Given the description of an element on the screen output the (x, y) to click on. 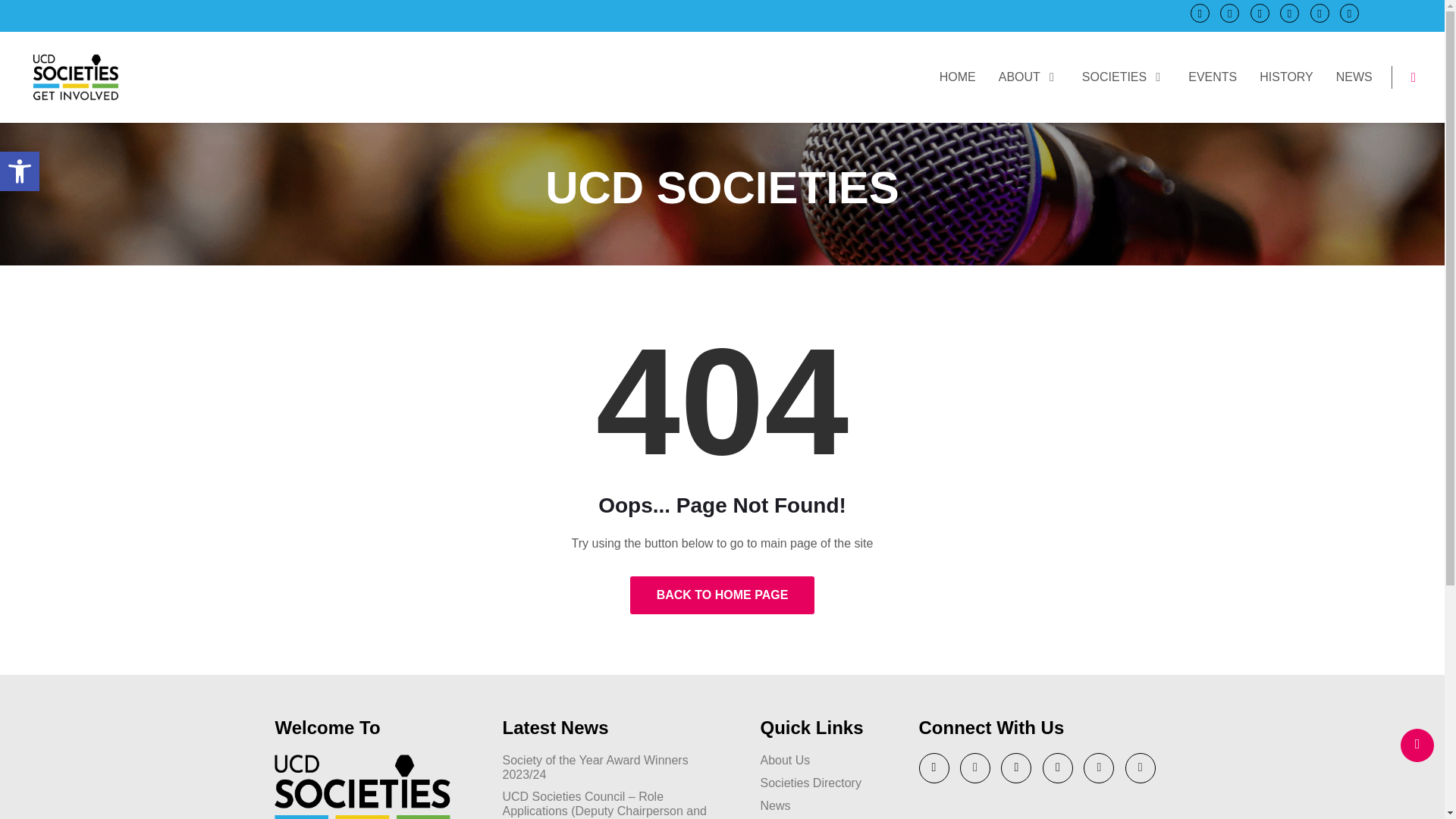
SOCIETIES (1123, 76)
Accessibility Tools (19, 170)
HOME (957, 76)
Accessibility Tools (19, 170)
ABOUT (1028, 76)
